Given the description of an element on the screen output the (x, y) to click on. 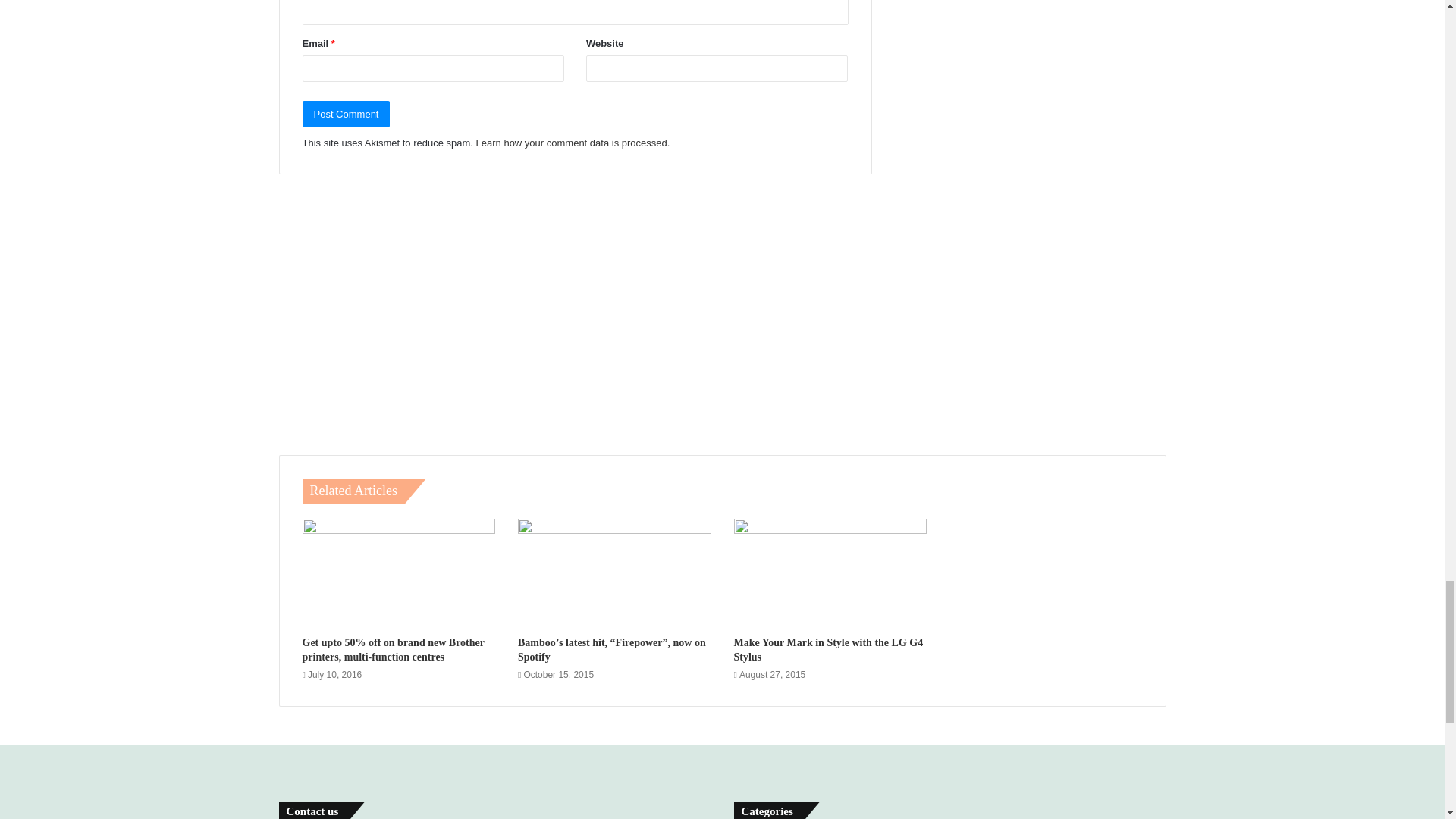
Post Comment (345, 113)
